Given the description of an element on the screen output the (x, y) to click on. 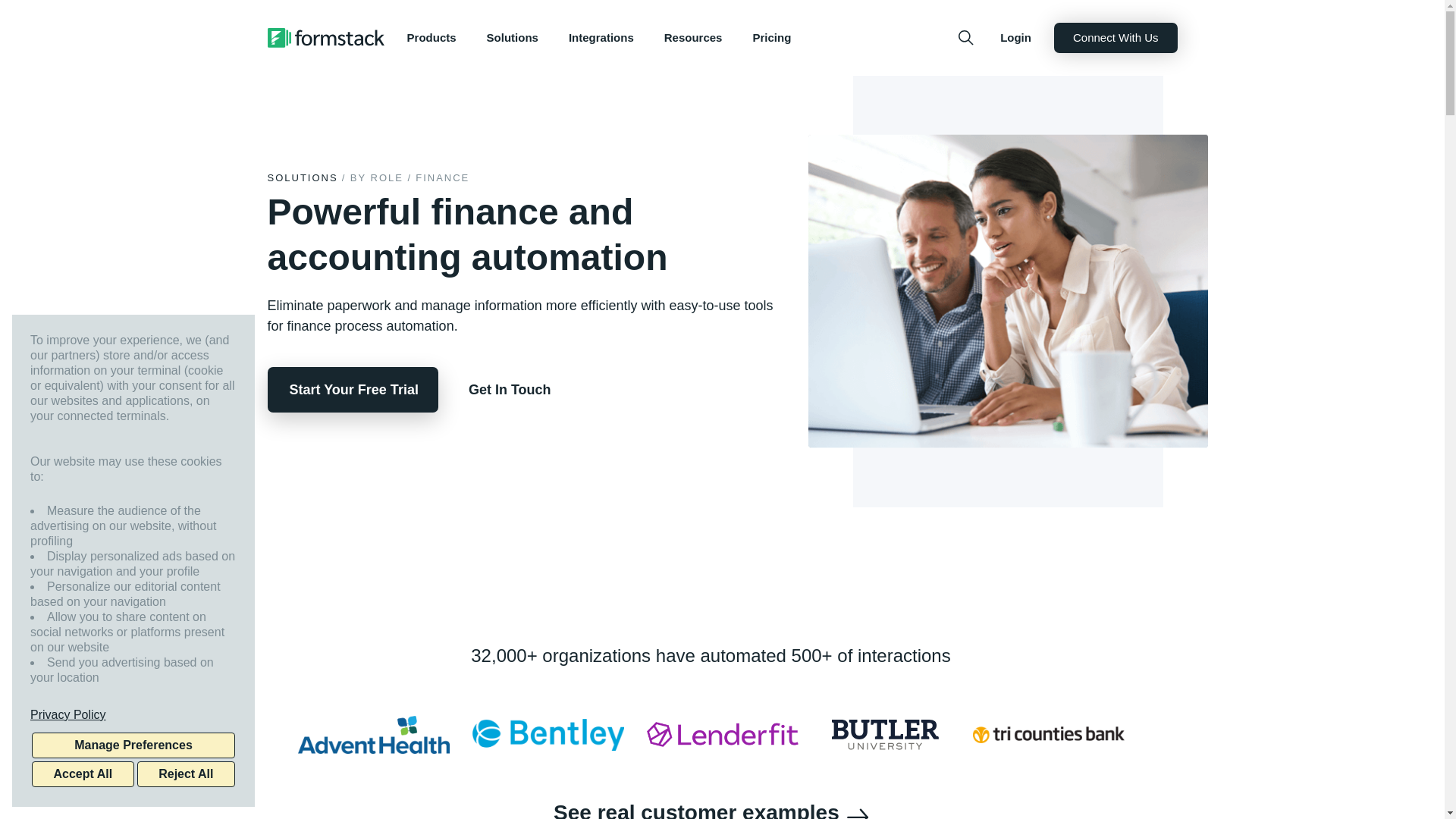
Products (431, 37)
Manage Preferences (133, 745)
Accept All (82, 774)
Solutions (512, 37)
Reject All (185, 774)
Privacy Policy (132, 714)
